Given the description of an element on the screen output the (x, y) to click on. 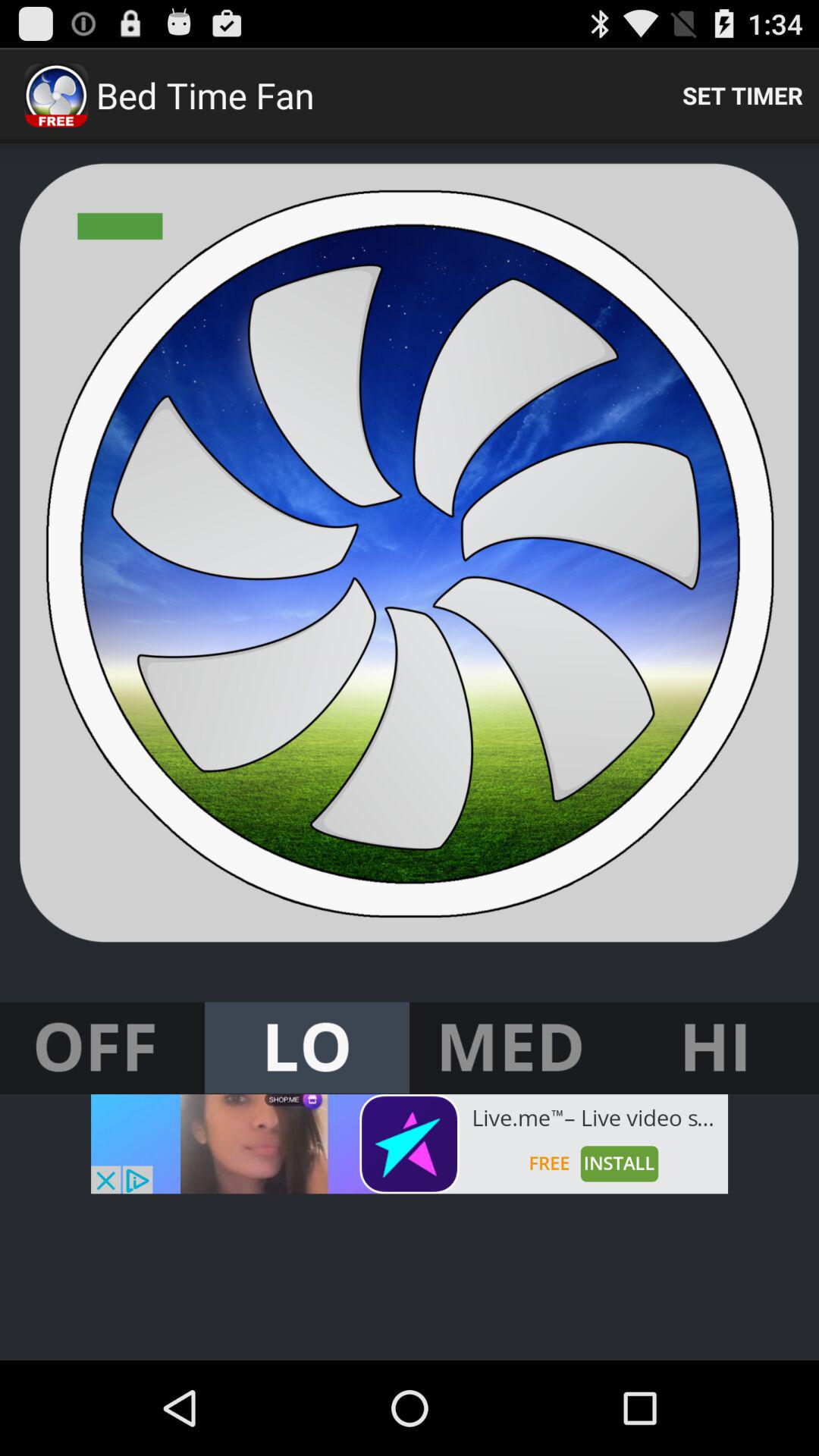
medium option (511, 1048)
